Given the description of an element on the screen output the (x, y) to click on. 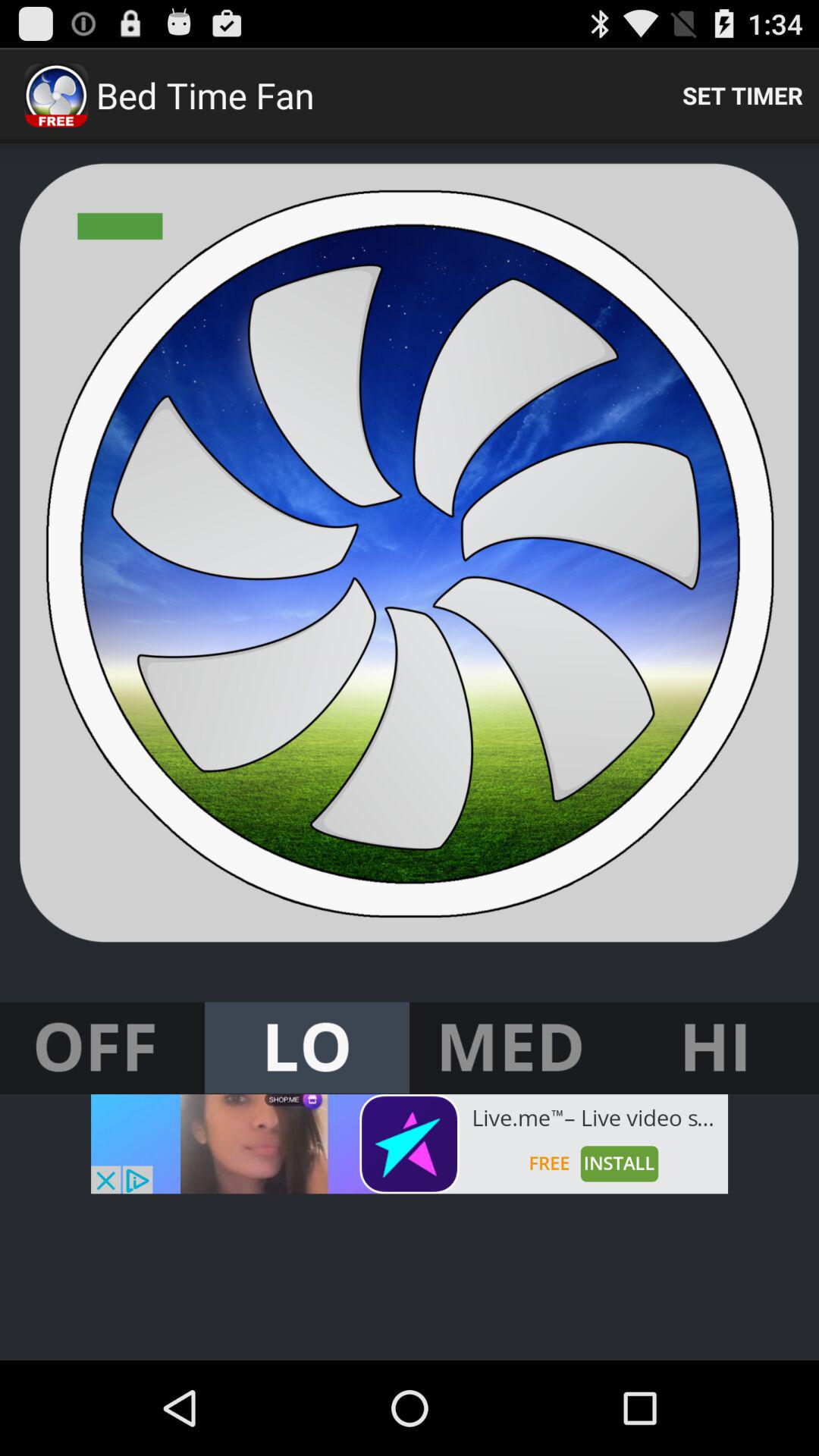
medium option (511, 1048)
